Given the description of an element on the screen output the (x, y) to click on. 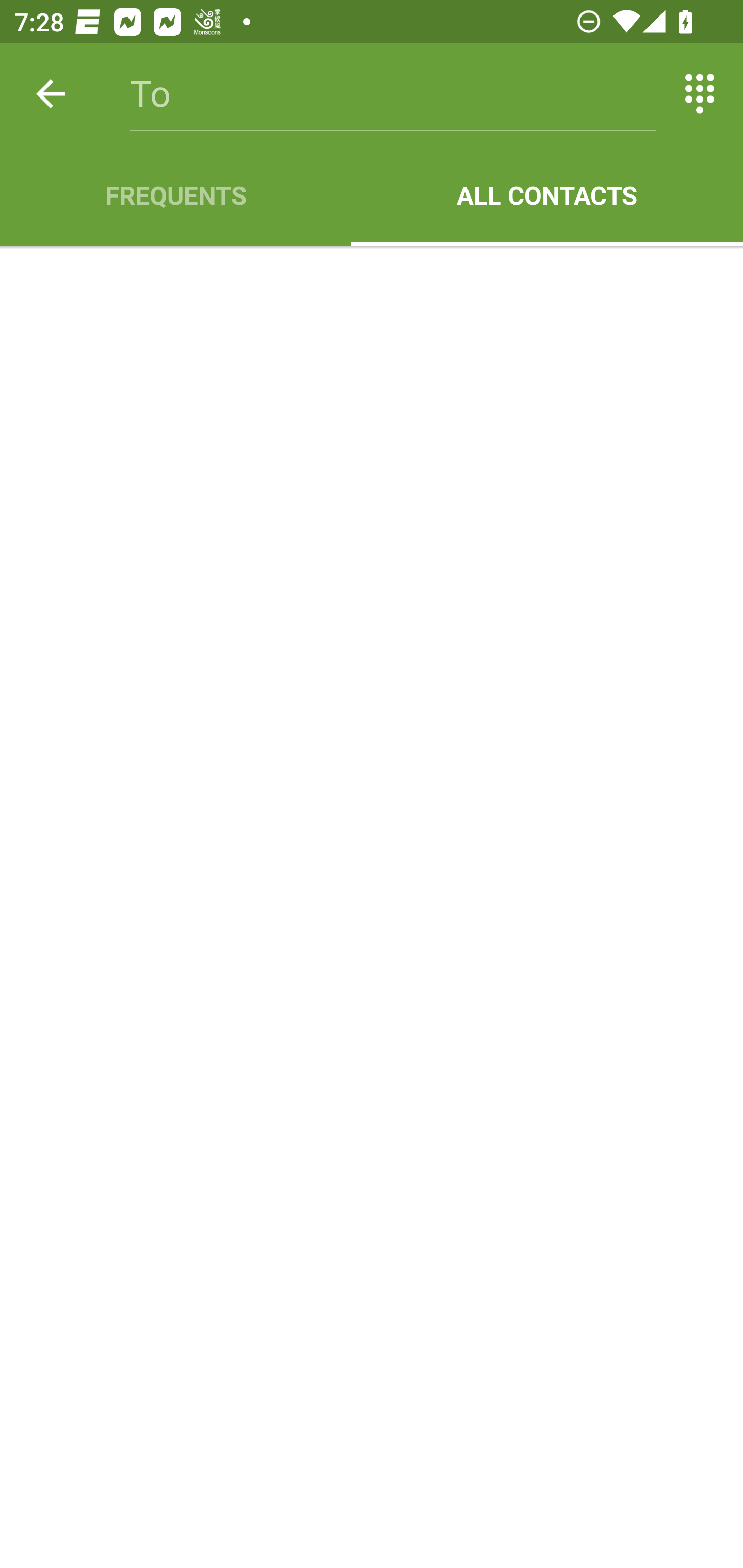
Back (50, 93)
Switch between entering text and numbers (699, 93)
To (393, 93)
FREQUENTS (175, 195)
ALL CONTACTS (547, 195)
